Given the description of an element on the screen output the (x, y) to click on. 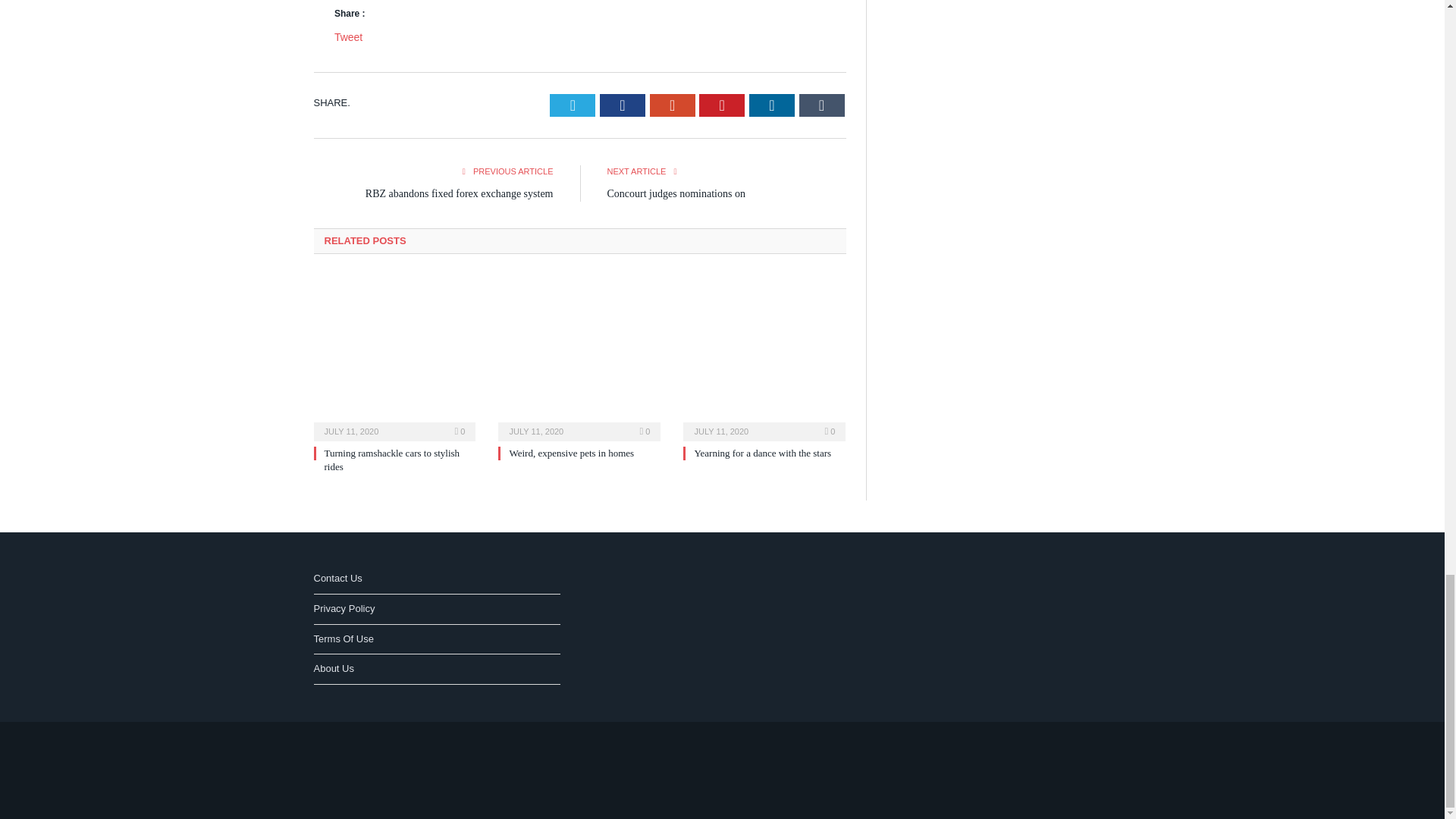
Weird, expensive pets in homes (579, 356)
Twitter (572, 105)
Tweet (348, 37)
Share on LinkedIn (771, 105)
Facebook (622, 105)
Share on Tumblr (821, 105)
Tweet It (572, 105)
Share on Pinterest (721, 105)
Turning ramshackle cars to stylish rides (395, 356)
Turning ramshackle cars to stylish rides (392, 459)
